Given the description of an element on the screen output the (x, y) to click on. 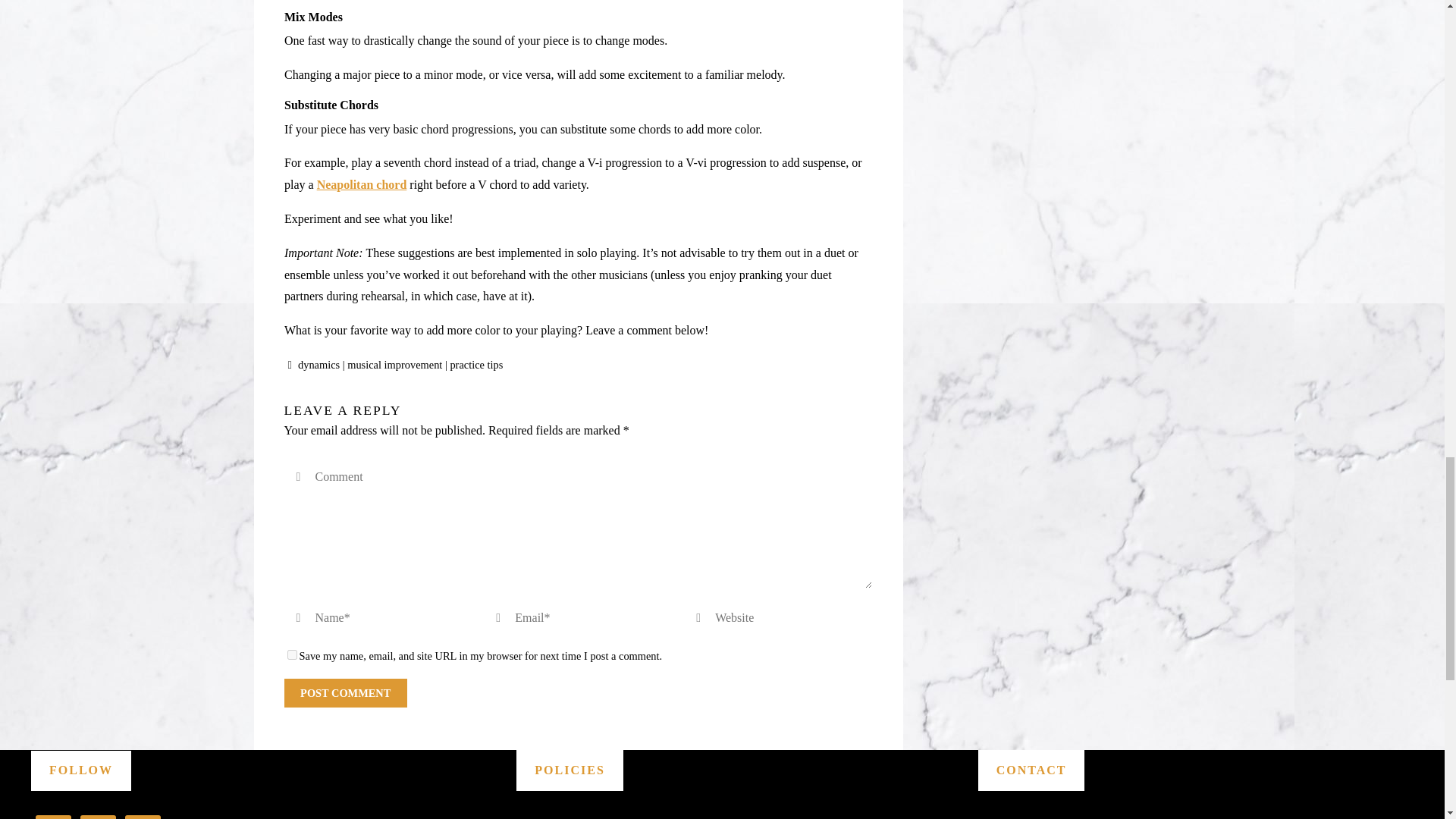
yes (291, 655)
Post Comment (344, 693)
